Given the description of an element on the screen output the (x, y) to click on. 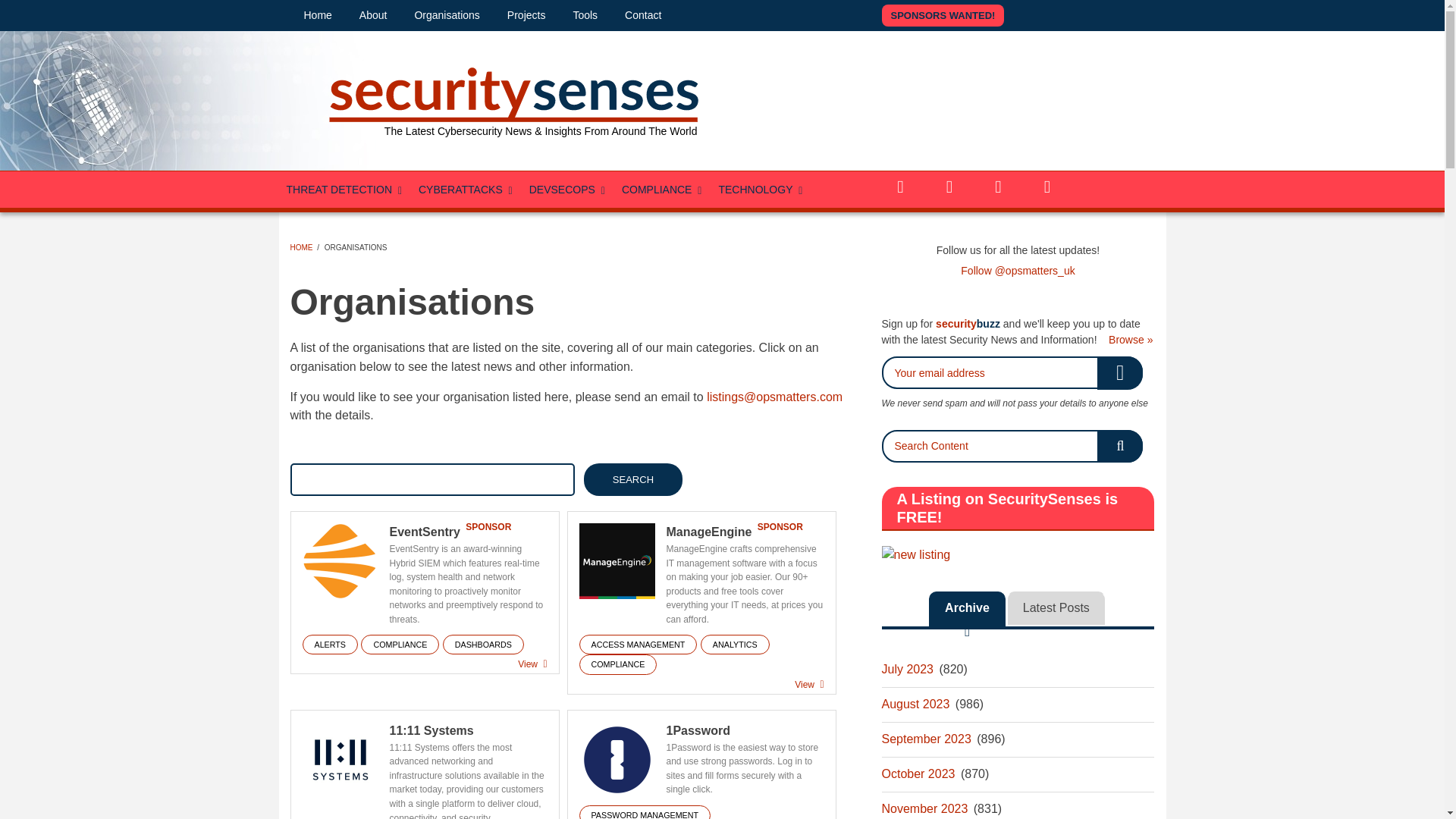
COMPLIANCE (662, 189)
DEVSECOPS (567, 189)
SPONSORS WANTED! (942, 15)
THREAT DETECTION (345, 189)
Projects (526, 15)
Subscribe (1119, 372)
1password logo (617, 759)
About (373, 15)
TECHNOLOGY (760, 189)
